Given the description of an element on the screen output the (x, y) to click on. 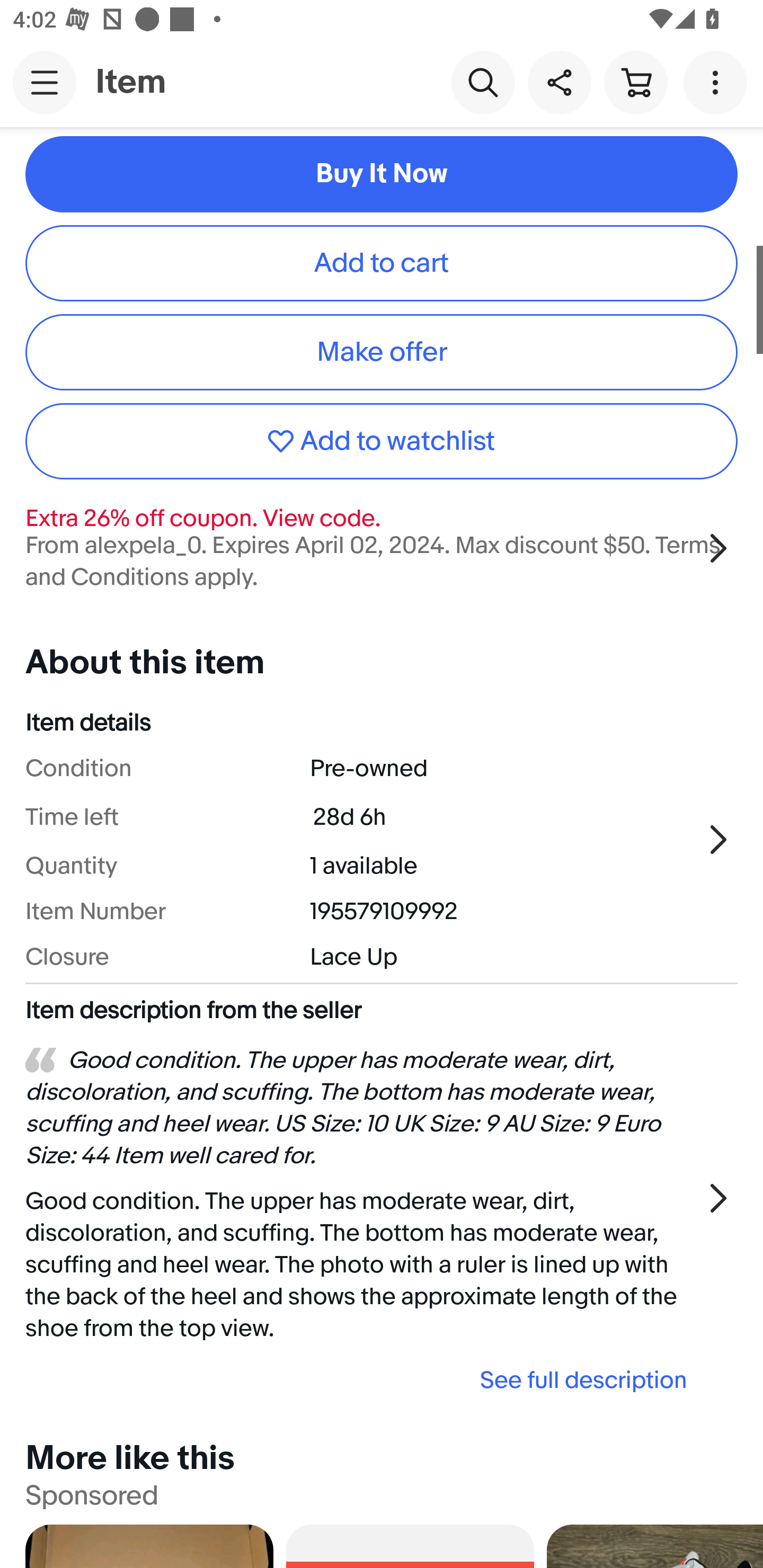
Main navigation, open (44, 82)
Search (482, 81)
Share this item (559, 81)
Cart button shopping cart (635, 81)
More options (718, 81)
Buy It Now (381, 173)
Add to cart (381, 263)
Make offer (381, 351)
Add to watchlist (381, 440)
See full description (362, 1380)
